Given the description of an element on the screen output the (x, y) to click on. 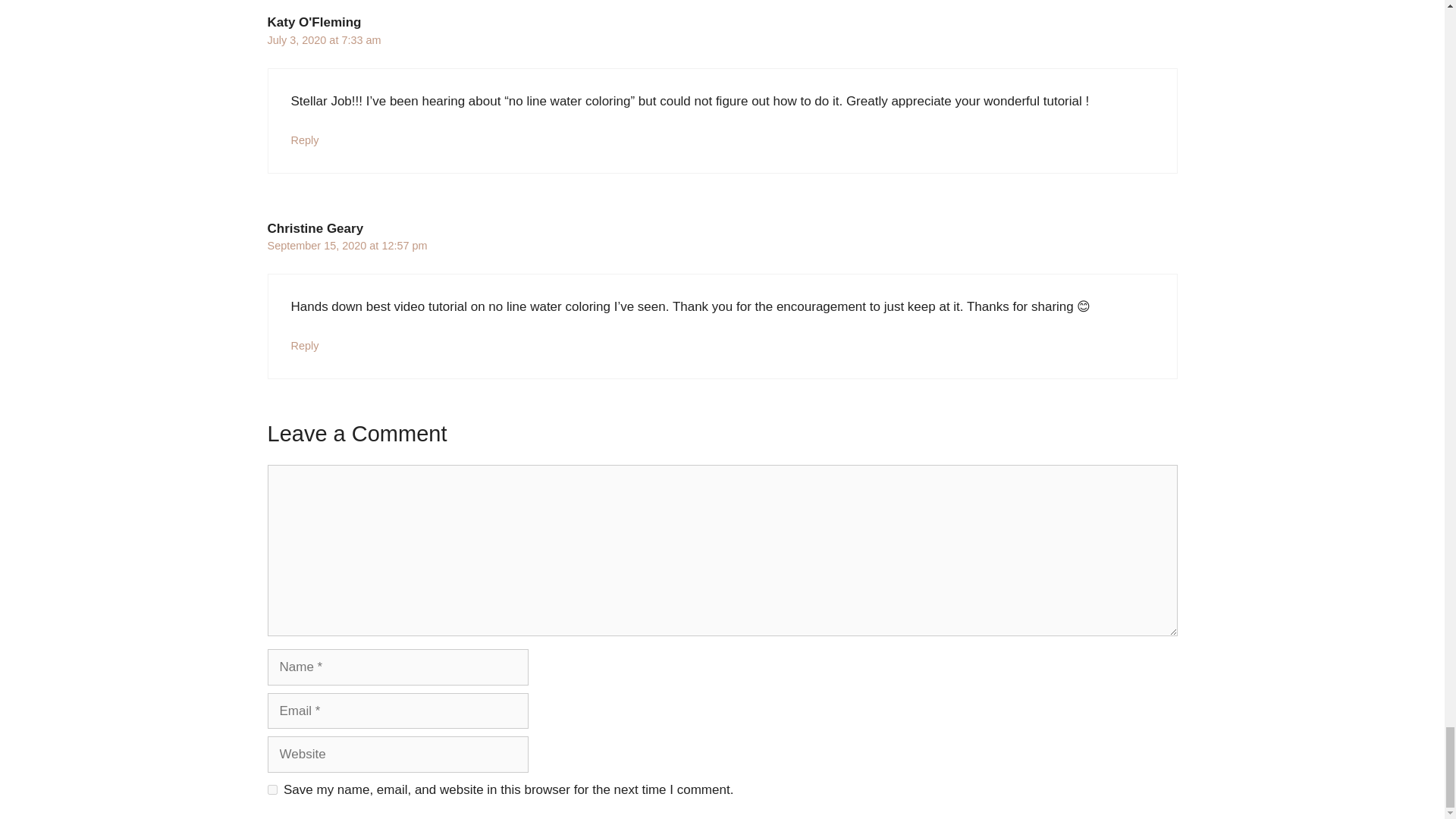
yes (271, 789)
